Given the description of an element on the screen output the (x, y) to click on. 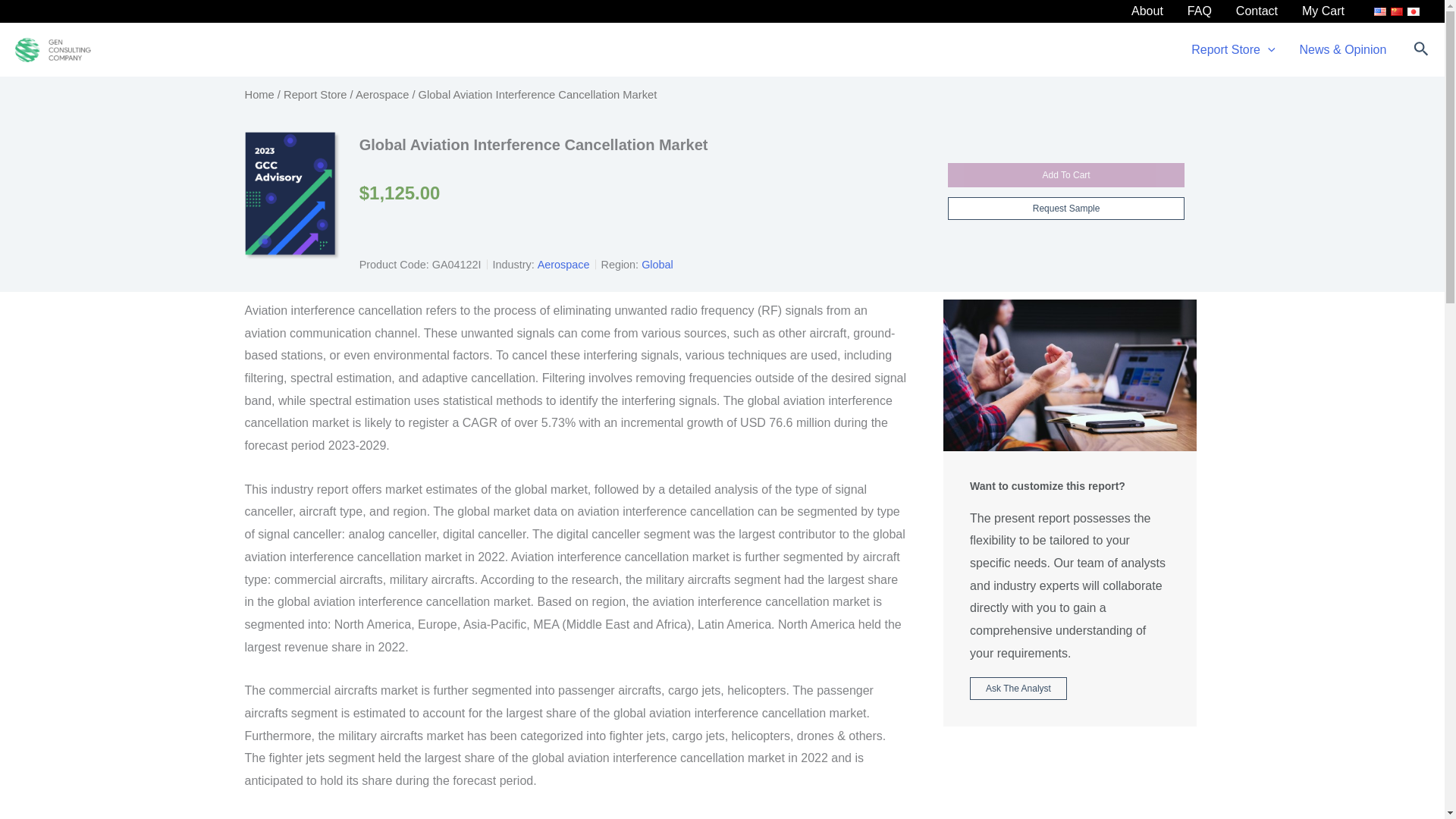
Aerospace (382, 94)
My Cart (1323, 11)
Home (258, 94)
Contact (1257, 11)
Add To Cart (1066, 174)
FAQ (1199, 11)
Report Store (1233, 49)
Aerospace (563, 264)
English (1380, 10)
Report Store (314, 94)
Global (657, 264)
About (1146, 11)
